Given the description of an element on the screen output the (x, y) to click on. 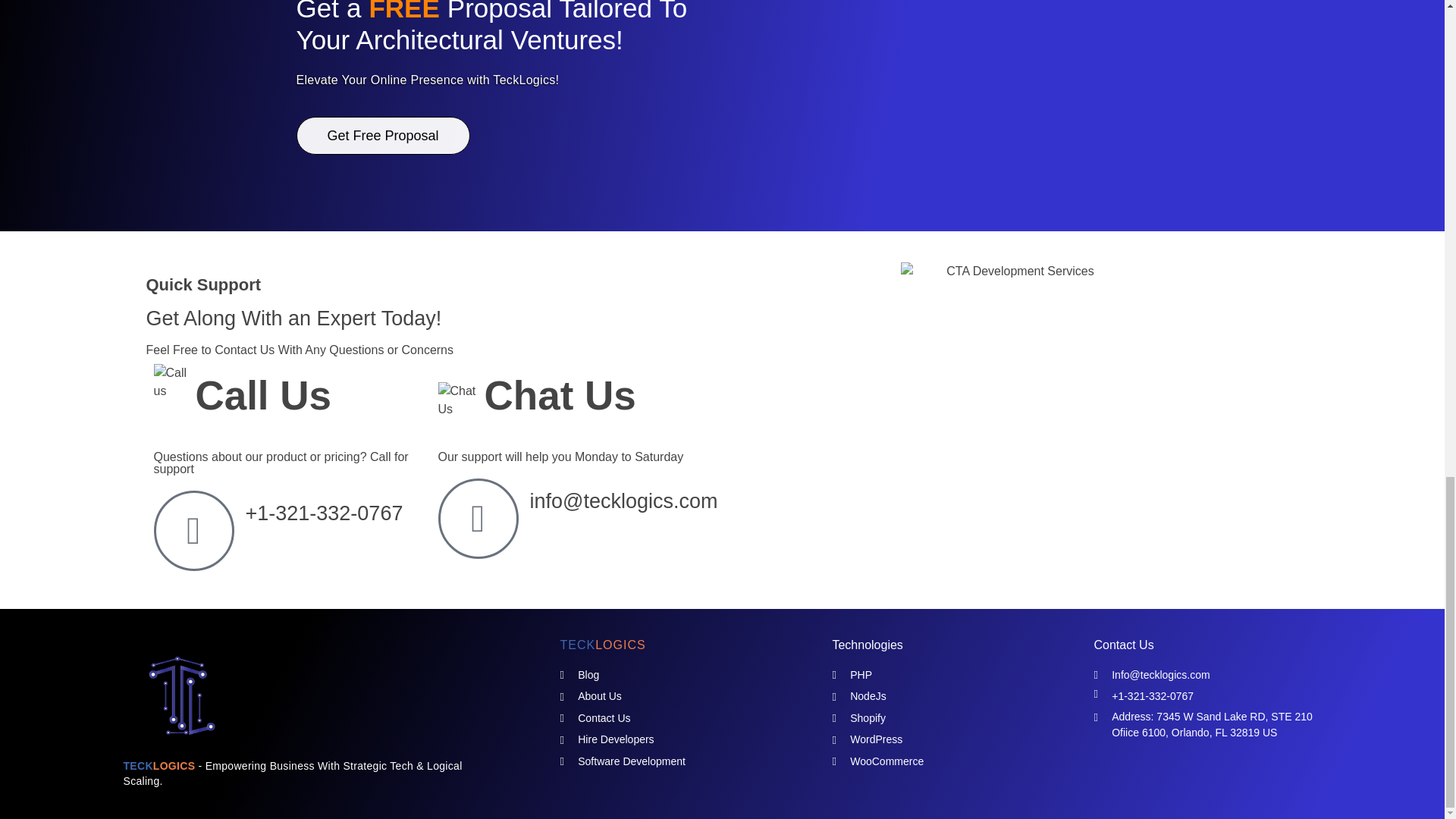
Get Free Proposal (381, 135)
Tecklogics (164, 761)
Tecklogics (312, 695)
Tecklogics (164, 761)
